Given the description of an element on the screen output the (x, y) to click on. 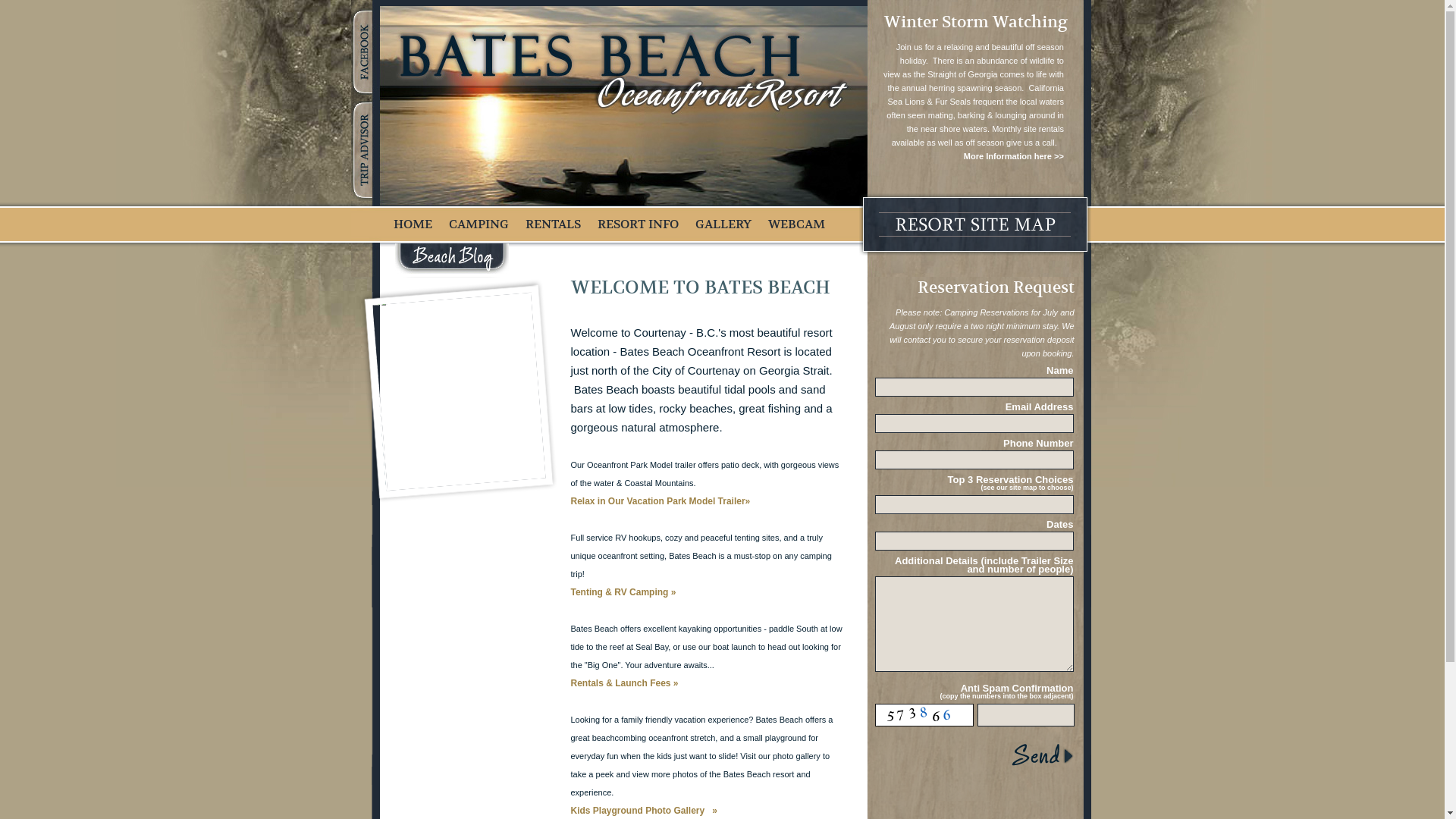
More Information here >> Element type: text (1013, 155)
GALLERY Element type: text (722, 224)
WEBCAM Element type: text (795, 224)
RENTALS Element type: text (552, 224)
RESORT INFO Element type: text (637, 224)
CAMPING Element type: text (478, 224)
HOME Element type: text (411, 224)
